Given the description of an element on the screen output the (x, y) to click on. 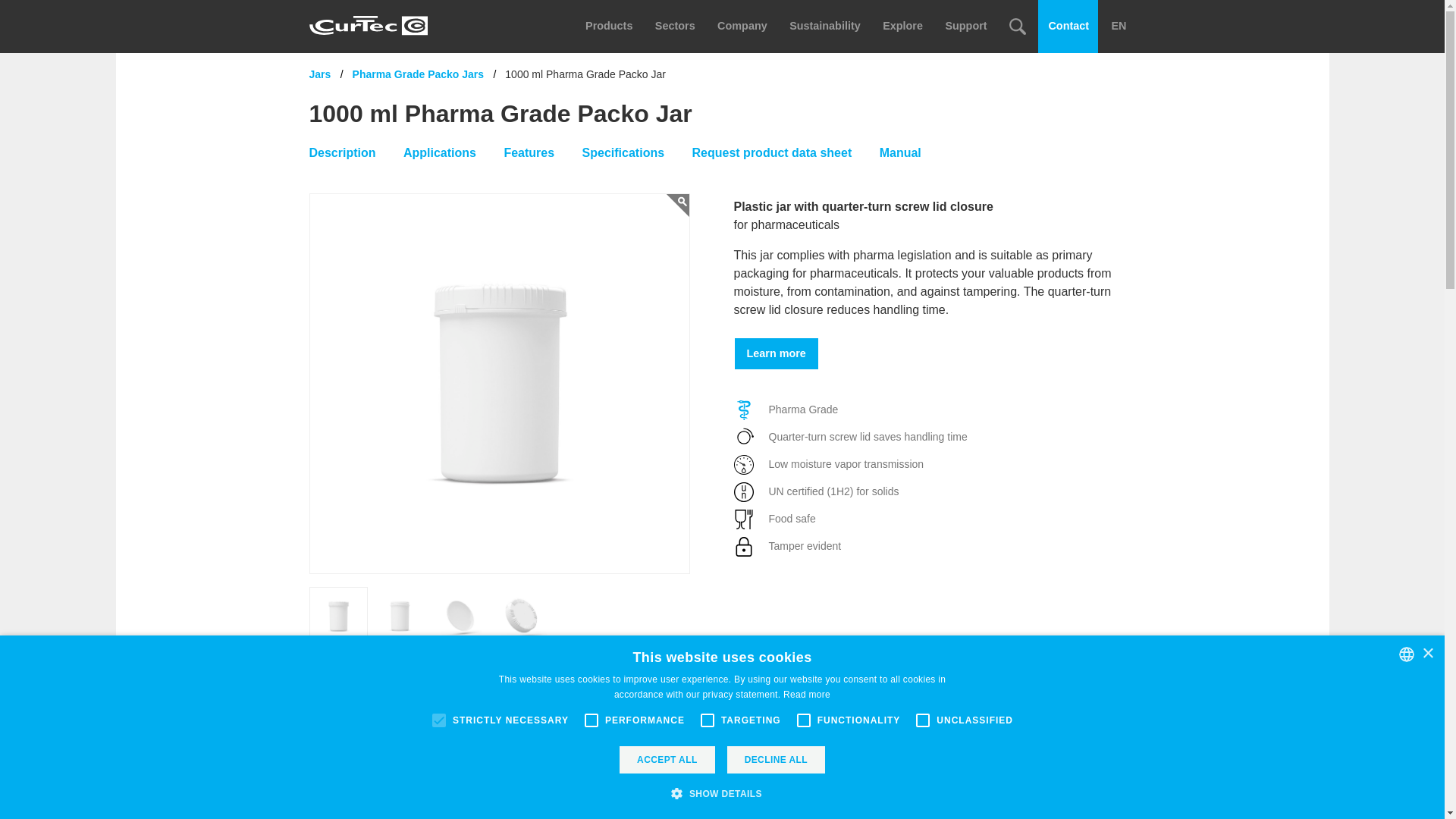
Company (741, 26)
Features (528, 153)
Sustainability (823, 26)
Applications (439, 153)
Sectors (674, 26)
Specifications (622, 153)
Description (341, 153)
Products (608, 26)
Explore (901, 26)
